Given the description of an element on the screen output the (x, y) to click on. 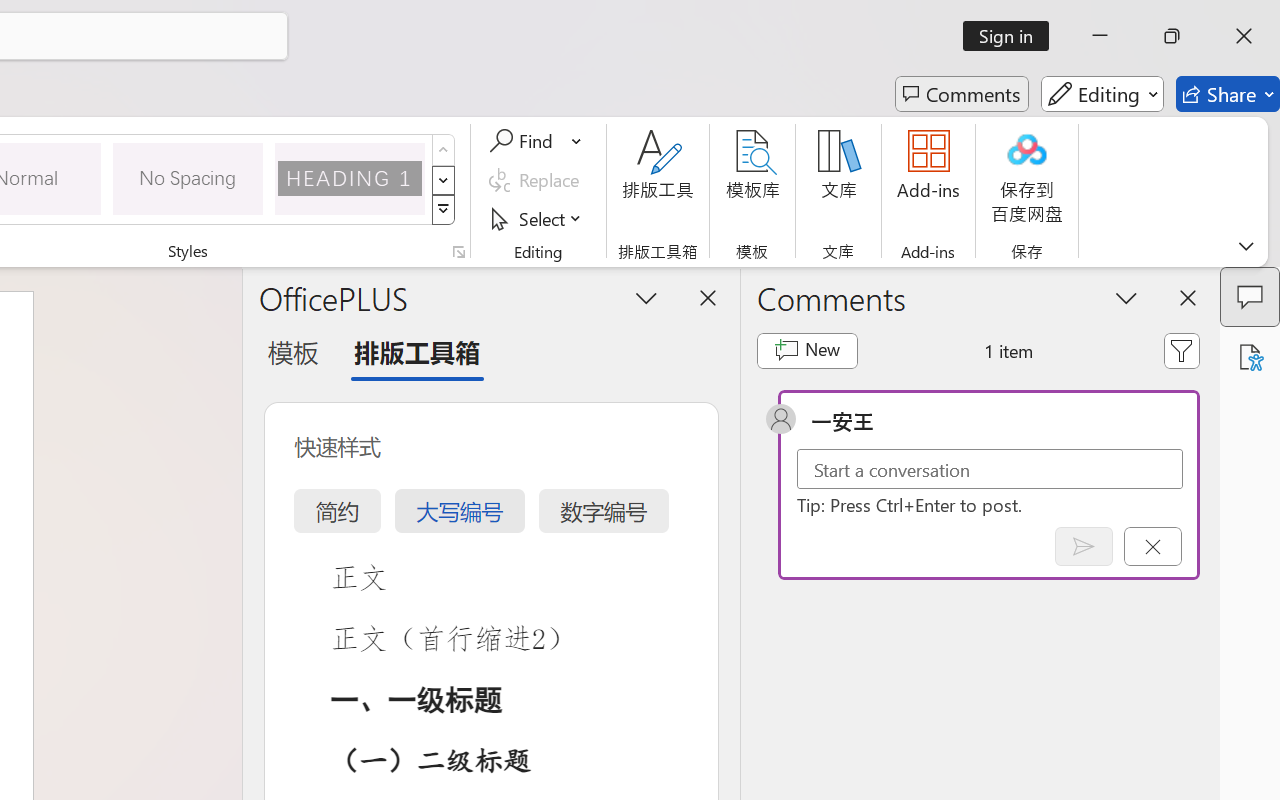
Cancel (1152, 546)
Accessibility Assistant (1249, 357)
Start a conversation (990, 468)
